Given the description of an element on the screen output the (x, y) to click on. 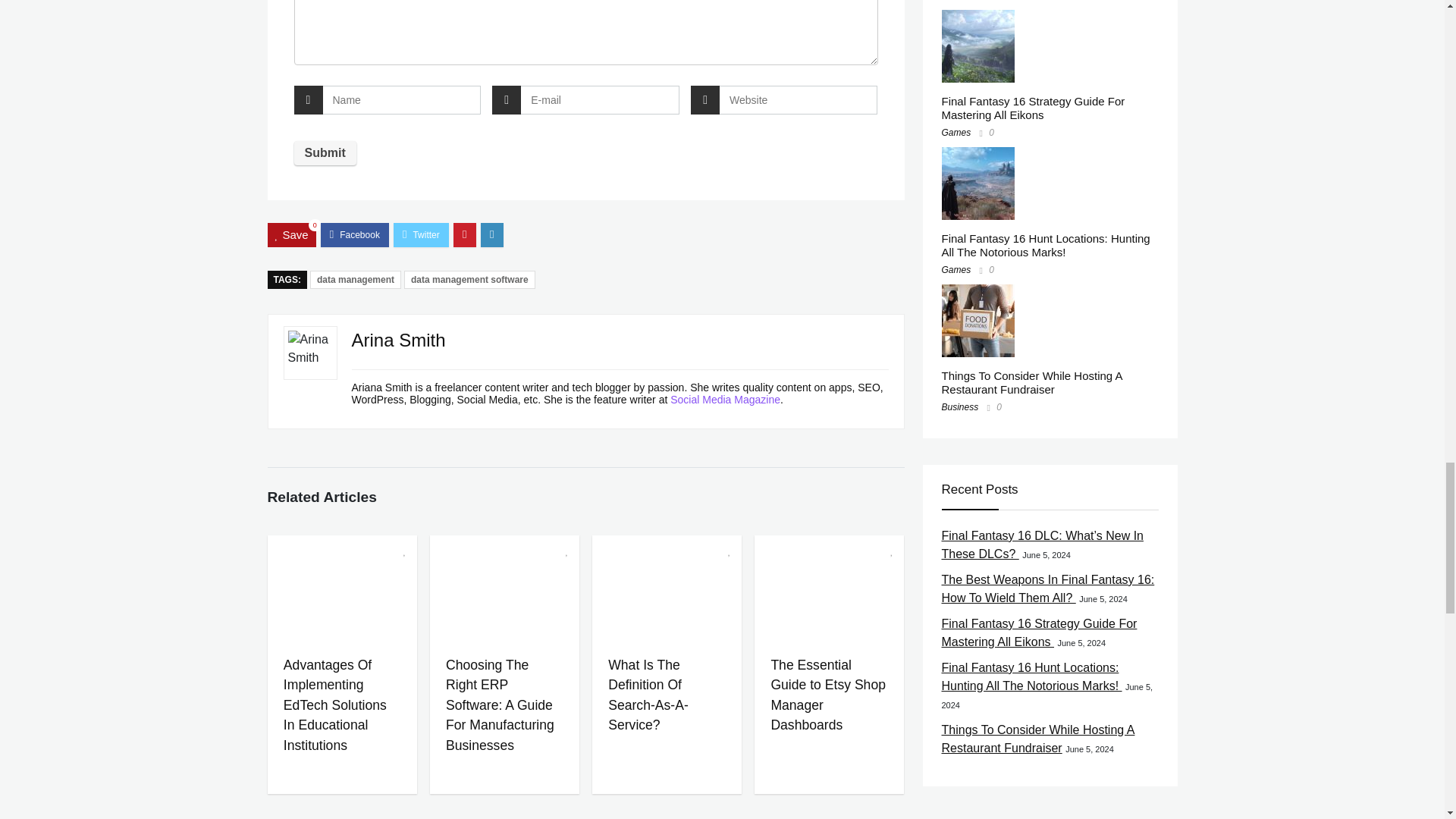
Submit (325, 152)
